Given the description of an element on the screen output the (x, y) to click on. 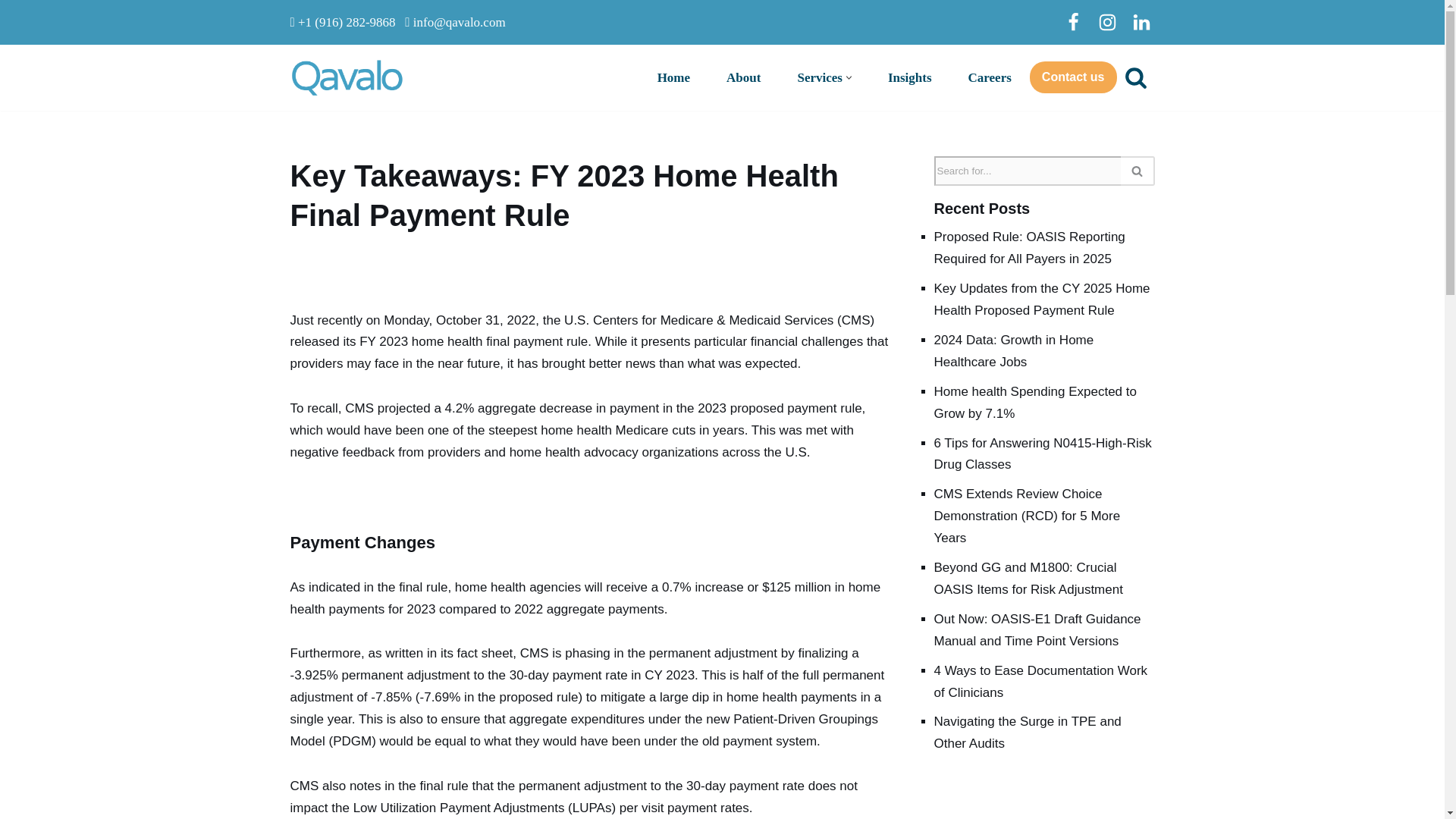
Facebook (1072, 22)
Skip to content (11, 31)
Contact us (1072, 77)
LinkedIn (1141, 22)
Services (818, 76)
Instagram (1106, 22)
Careers (989, 76)
Home (674, 76)
About (743, 76)
Insights (909, 76)
